Given the description of an element on the screen output the (x, y) to click on. 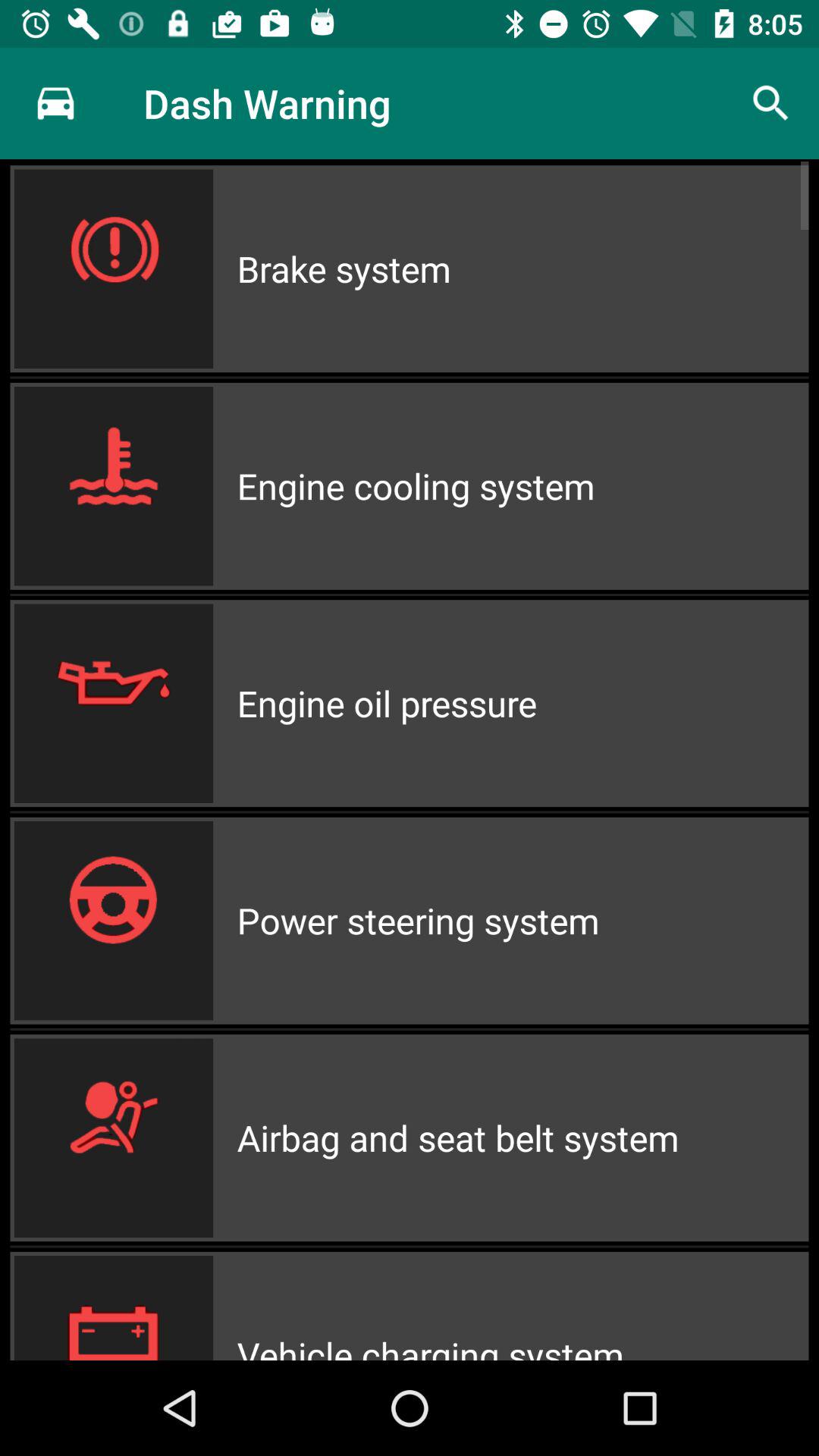
tap the item at the top right corner (771, 103)
